Given the description of an element on the screen output the (x, y) to click on. 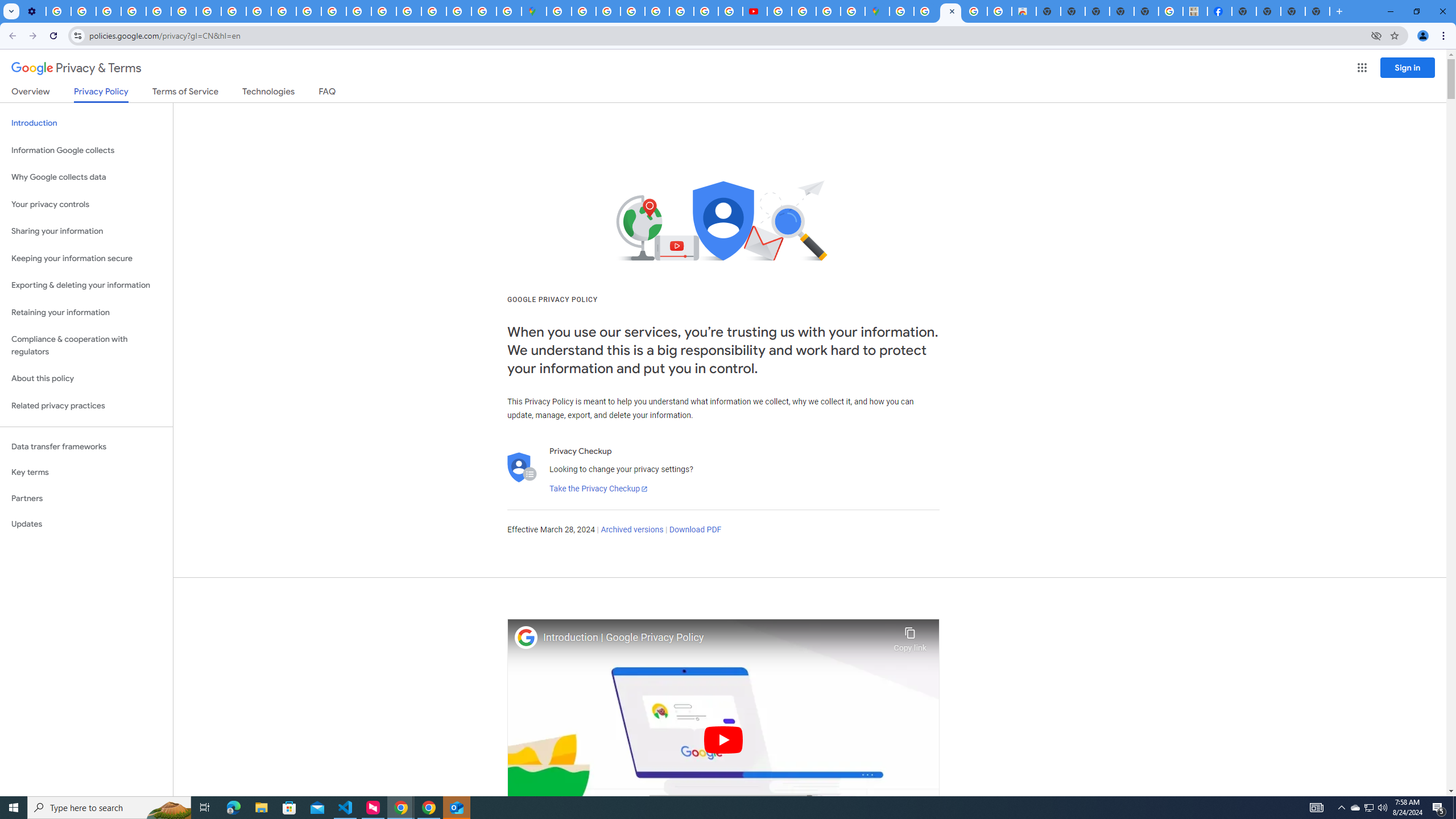
Subscriptions - YouTube (754, 11)
Related privacy practices (86, 405)
New Tab (1317, 11)
